Given the description of an element on the screen output the (x, y) to click on. 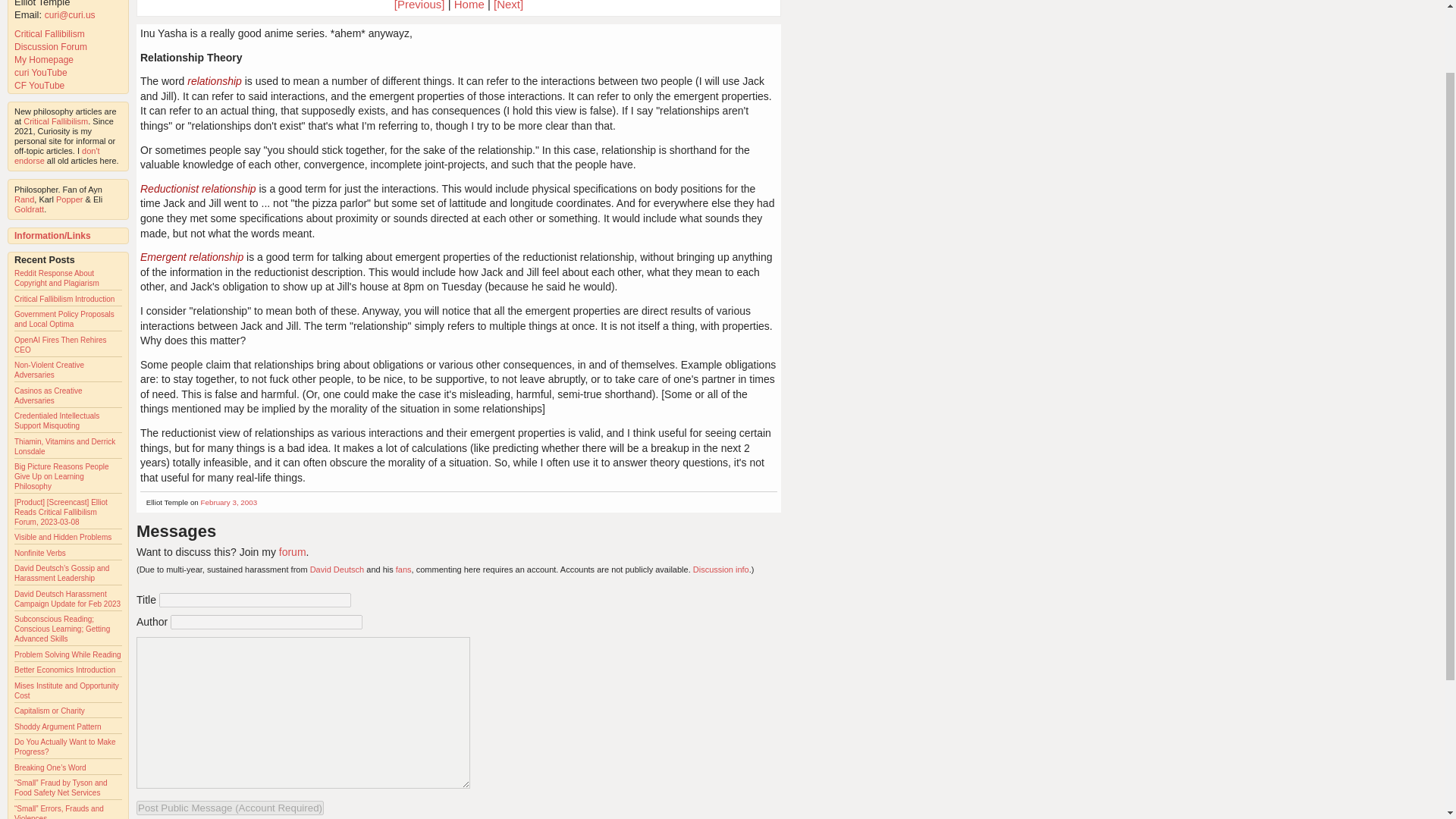
Critical Fallibilism Introduction (64, 298)
Casinos as Creative Adversaries (47, 395)
Credentialed Intellectuals Support Misquoting (56, 420)
Reddit Response About Copyright and Plagiarism (56, 278)
My Homepage (44, 59)
don't endorse (57, 155)
Government Policy Proposals and Local Optima (64, 319)
Do You Actually Want to Make Progress? (65, 746)
Thiamin, Vitamins and Derrick Lonsdale (64, 446)
Nonfinite Verbs (39, 552)
Popper (69, 198)
Shoddy Argument Pattern (57, 726)
Capitalism or Charity (49, 710)
Non-Violent Creative Adversaries (49, 370)
